Given the description of an element on the screen output the (x, y) to click on. 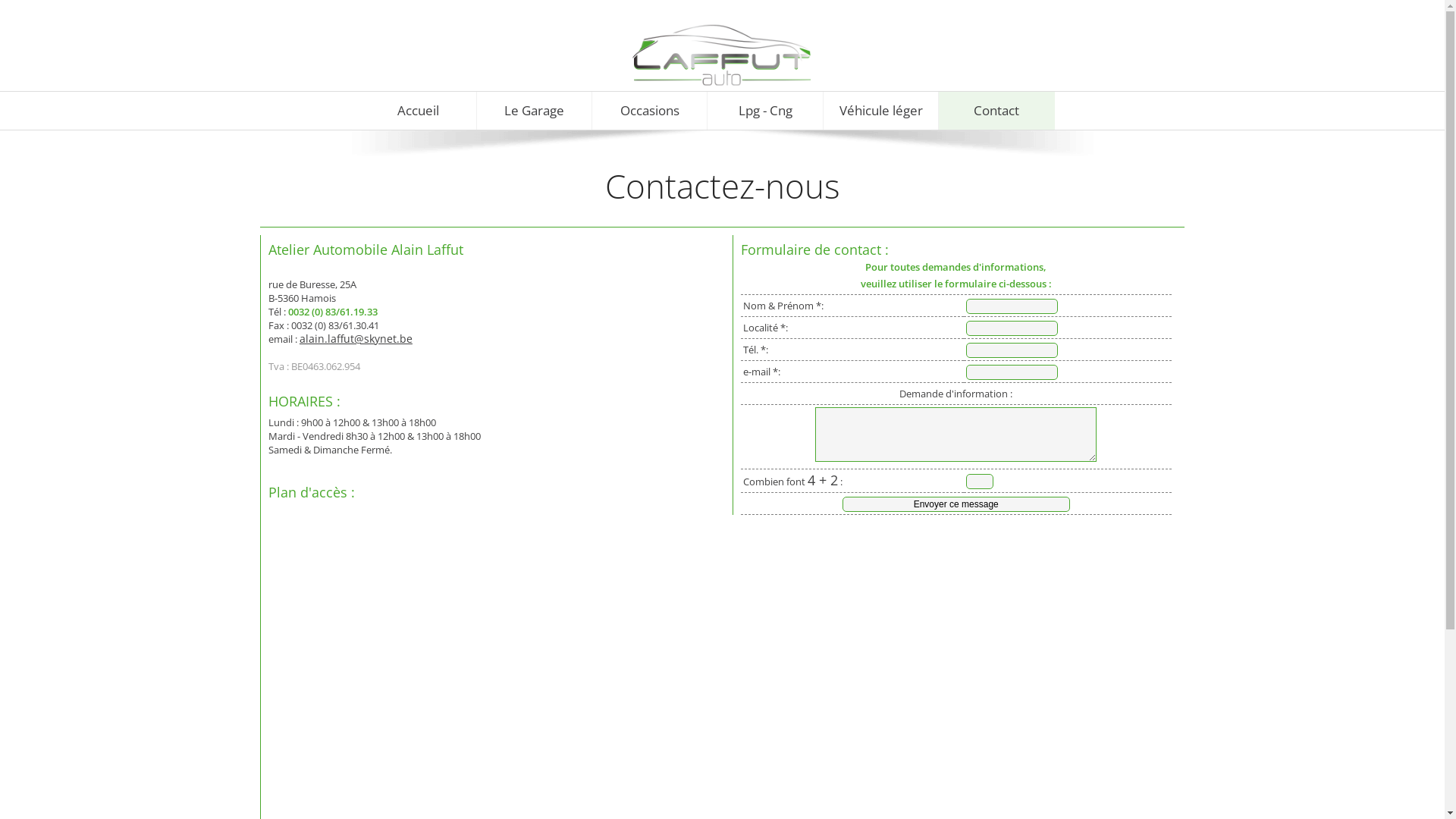
Accueil Element type: text (418, 110)
Occasions Element type: text (649, 110)
Envoyer ce message Element type: text (956, 503)
Contact Element type: text (996, 110)
alain.laffut@skynet.be Element type: text (355, 338)
Le Garage Element type: text (534, 110)
Lpg - Cng Element type: text (764, 110)
